Given the description of an element on the screen output the (x, y) to click on. 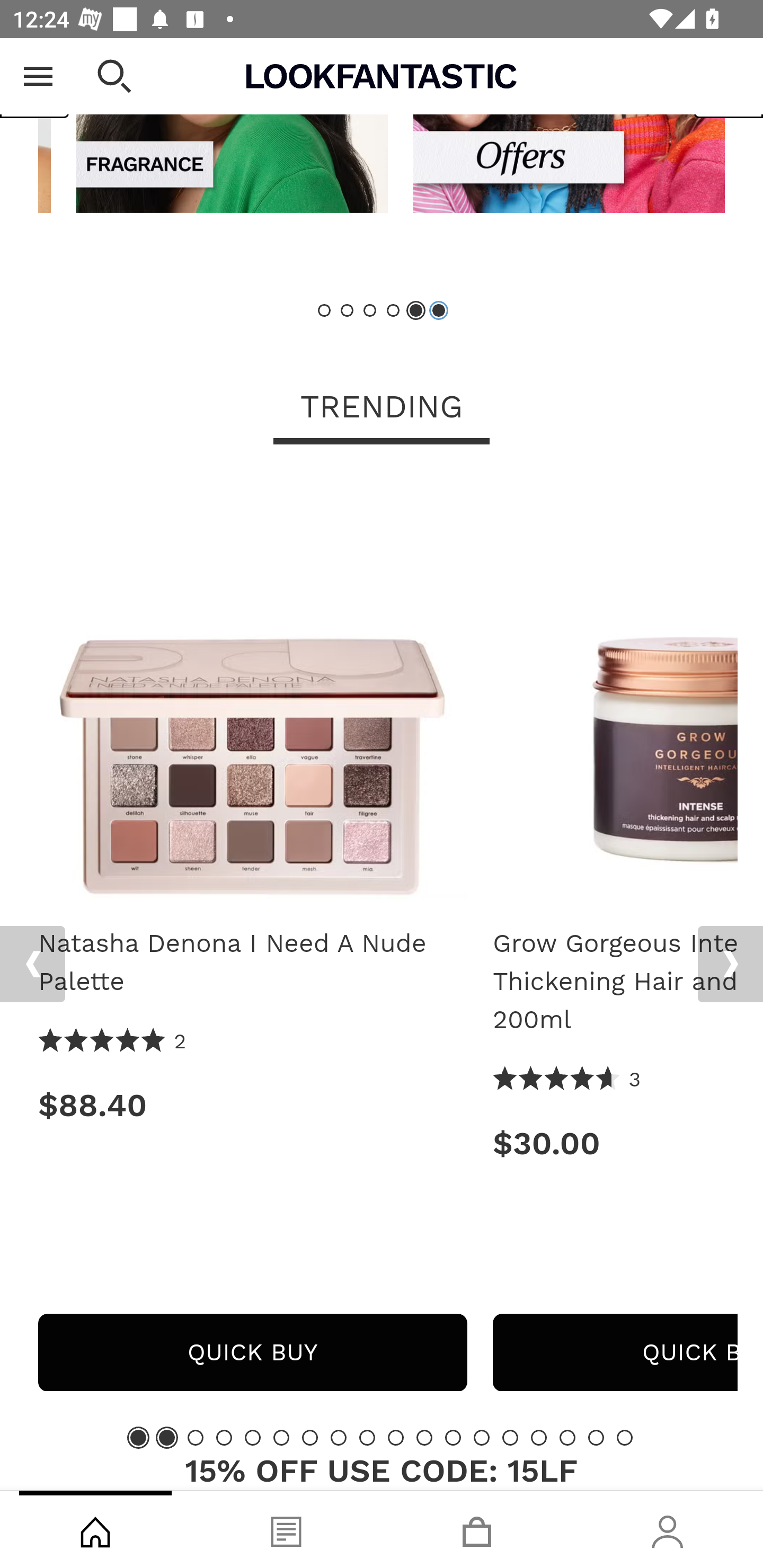
Previous (35, 78)
Next (727, 78)
Slide 1 (324, 311)
Slide 2 (347, 311)
Slide 3 (369, 311)
Slide 4 (393, 311)
Showing Slide 5 (Current Item) (415, 311)
Showing Slide 6 (Current Item) (437, 311)
TRENDING (381, 408)
Natasha Denona I Need A Nude Palette (252, 690)
Natasha Denona I Need A Nude Palette (252, 962)
Previous (32, 964)
Next (730, 964)
5.0 Stars 2 Reviews (112, 1041)
4.67 Stars 3 Reviews (567, 1079)
Price: $88.40 (252, 1104)
Price: $30.00 (614, 1143)
QUICK BUY NATASHA DENONA I NEED A NUDE PALETTE (252, 1352)
Showing Slide 1 (Current Item) (138, 1436)
Showing Slide 2 (Current Item) (166, 1436)
Slide 3 (195, 1436)
Slide 4 (223, 1436)
Slide 5 (252, 1436)
Slide 6 (281, 1436)
Slide 7 (310, 1436)
Slide 8 (338, 1436)
Slide 9 (367, 1436)
Slide 10 (395, 1436)
Slide 11 (424, 1436)
Slide 12 (452, 1436)
Slide 13 (481, 1436)
Slide 14 (510, 1436)
Slide 15 (539, 1436)
Slide 16 (567, 1436)
Slide 17 (596, 1436)
Slide 18 (624, 1436)
Shop, tab, 1 of 4 (95, 1529)
Blog, tab, 2 of 4 (285, 1529)
Basket, tab, 3 of 4 (476, 1529)
Account, tab, 4 of 4 (667, 1529)
